Given the description of an element on the screen output the (x, y) to click on. 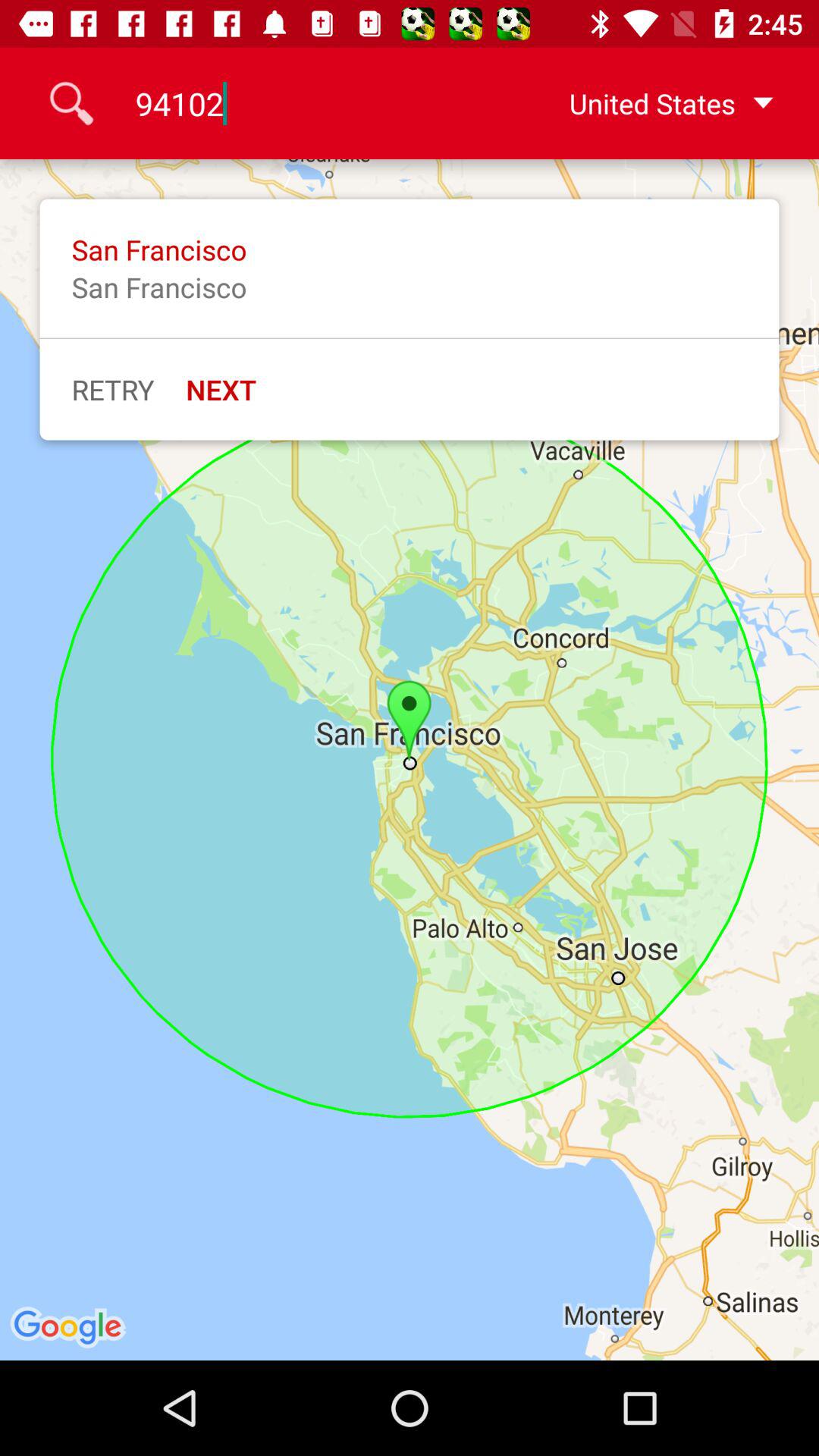
swipe until next (220, 389)
